Given the description of an element on the screen output the (x, y) to click on. 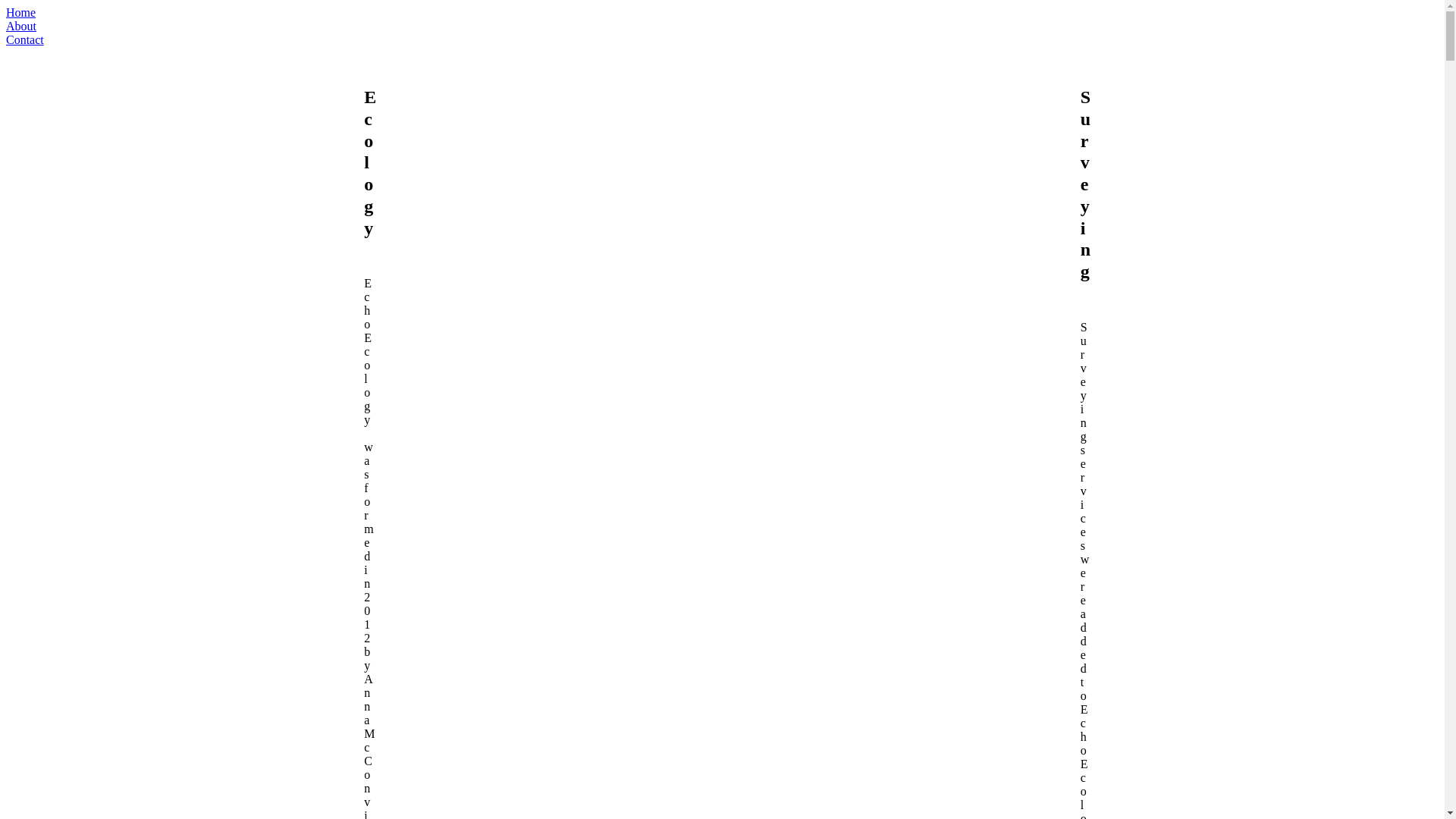
About Element type: text (722, 26)
Home Element type: text (722, 12)
Contact Element type: text (722, 40)
